Given the description of an element on the screen output the (x, y) to click on. 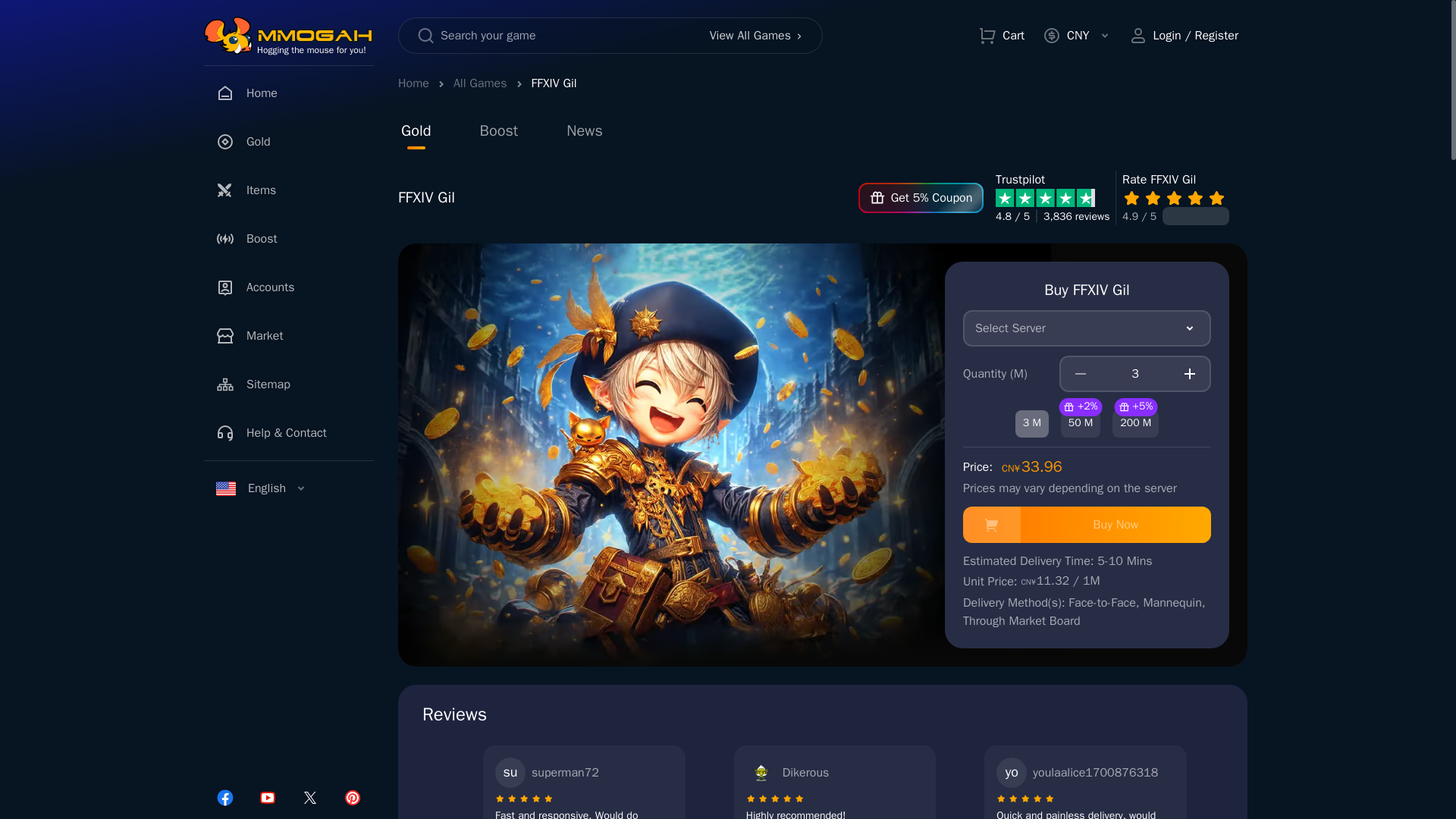
50 M (1080, 423)
3 M (1031, 423)
Home (413, 83)
Sitemap (288, 384)
Gold (288, 141)
Twitter (309, 797)
3 (1135, 373)
Cart (1001, 35)
Items (288, 190)
All Games (479, 83)
